Given the description of an element on the screen output the (x, y) to click on. 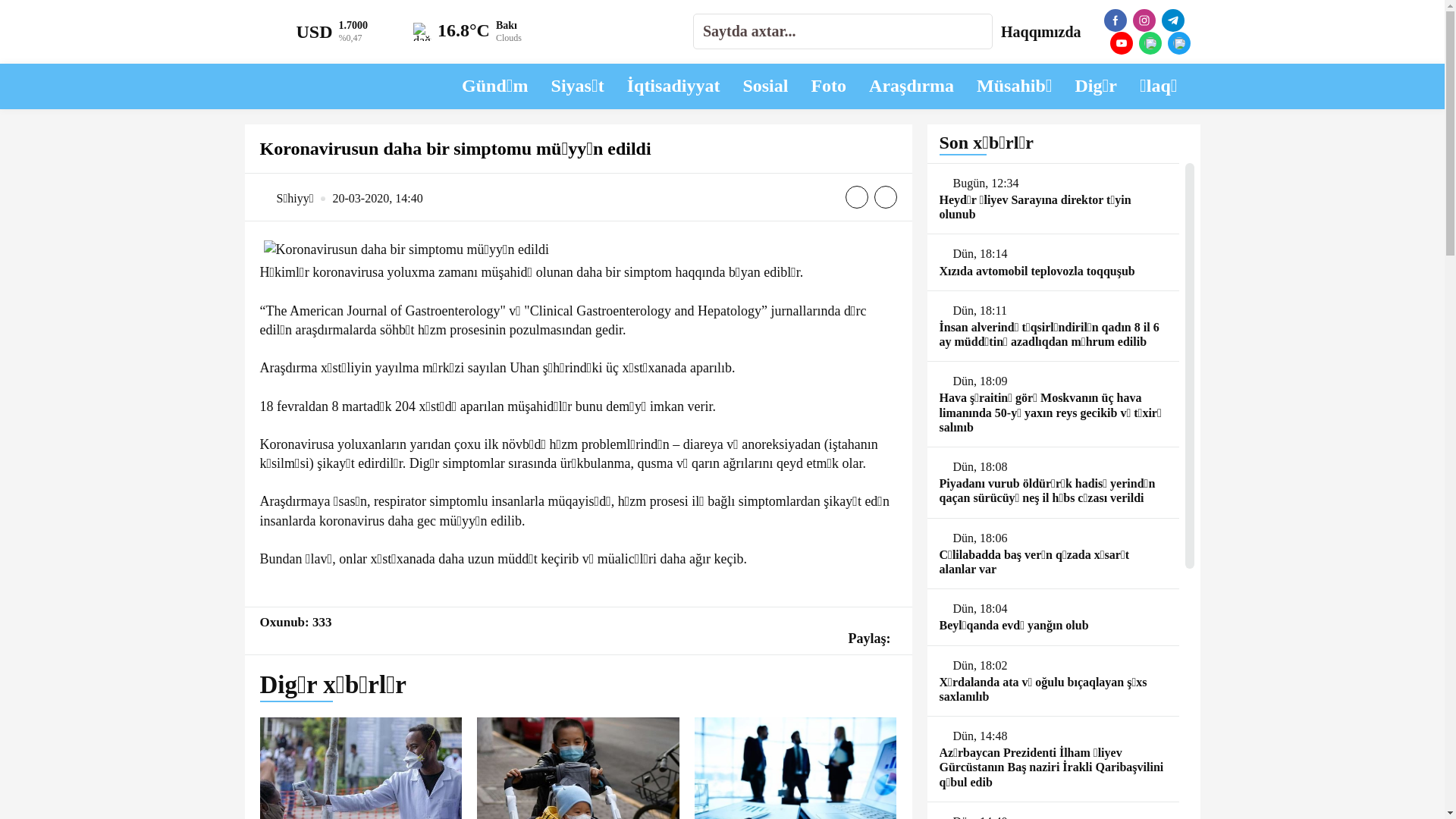
Sosial Element type: text (764, 85)
Foto Element type: text (828, 85)
